Given the description of an element on the screen output the (x, y) to click on. 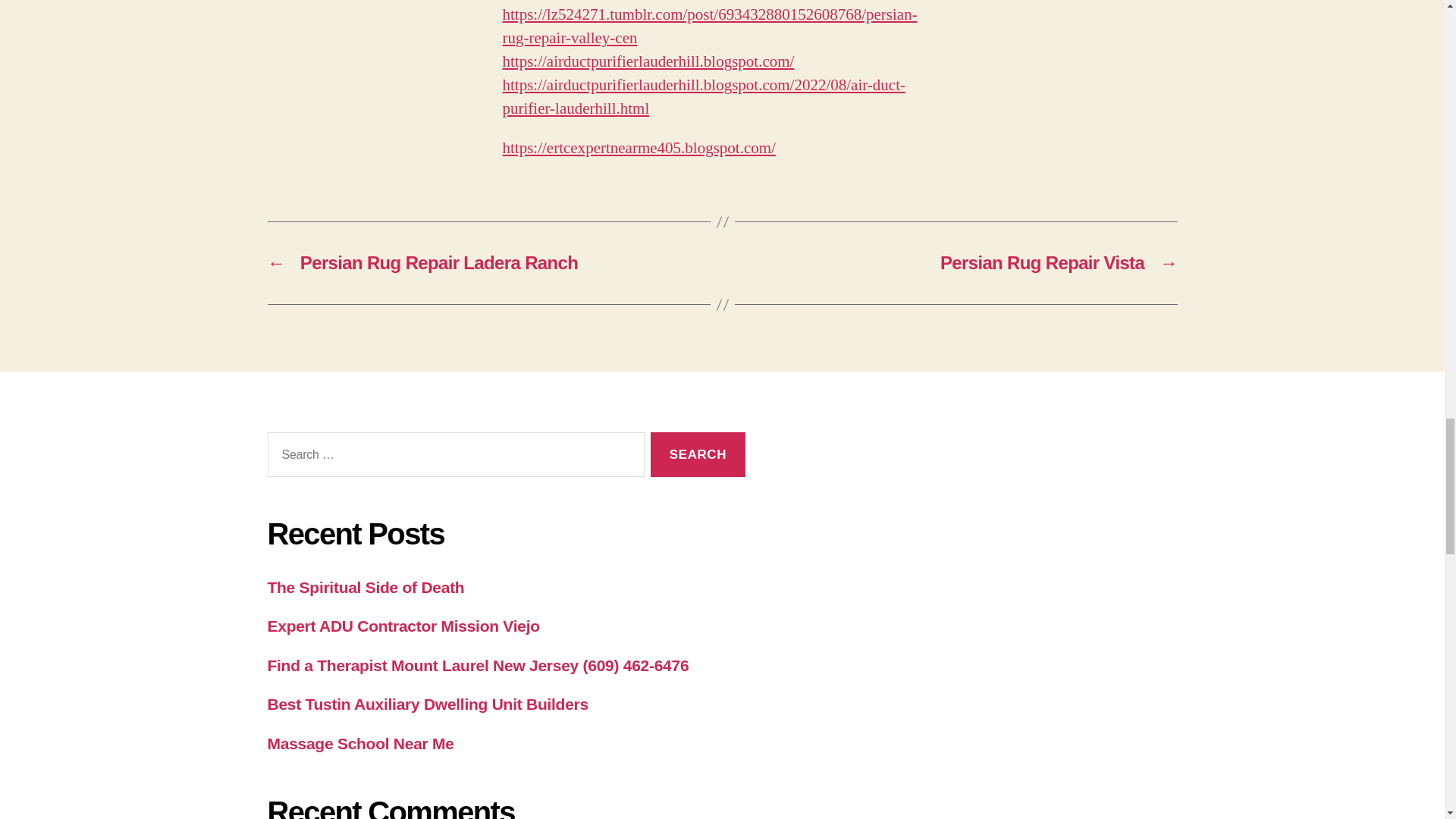
Expert ADU Contractor Mission Viejo (402, 625)
Best Tustin Auxiliary Dwelling Unit Builders (427, 703)
Search (697, 454)
The Spiritual Side of Death (365, 587)
Search (697, 454)
Massage School Near Me (359, 743)
Search (697, 454)
